Given the description of an element on the screen output the (x, y) to click on. 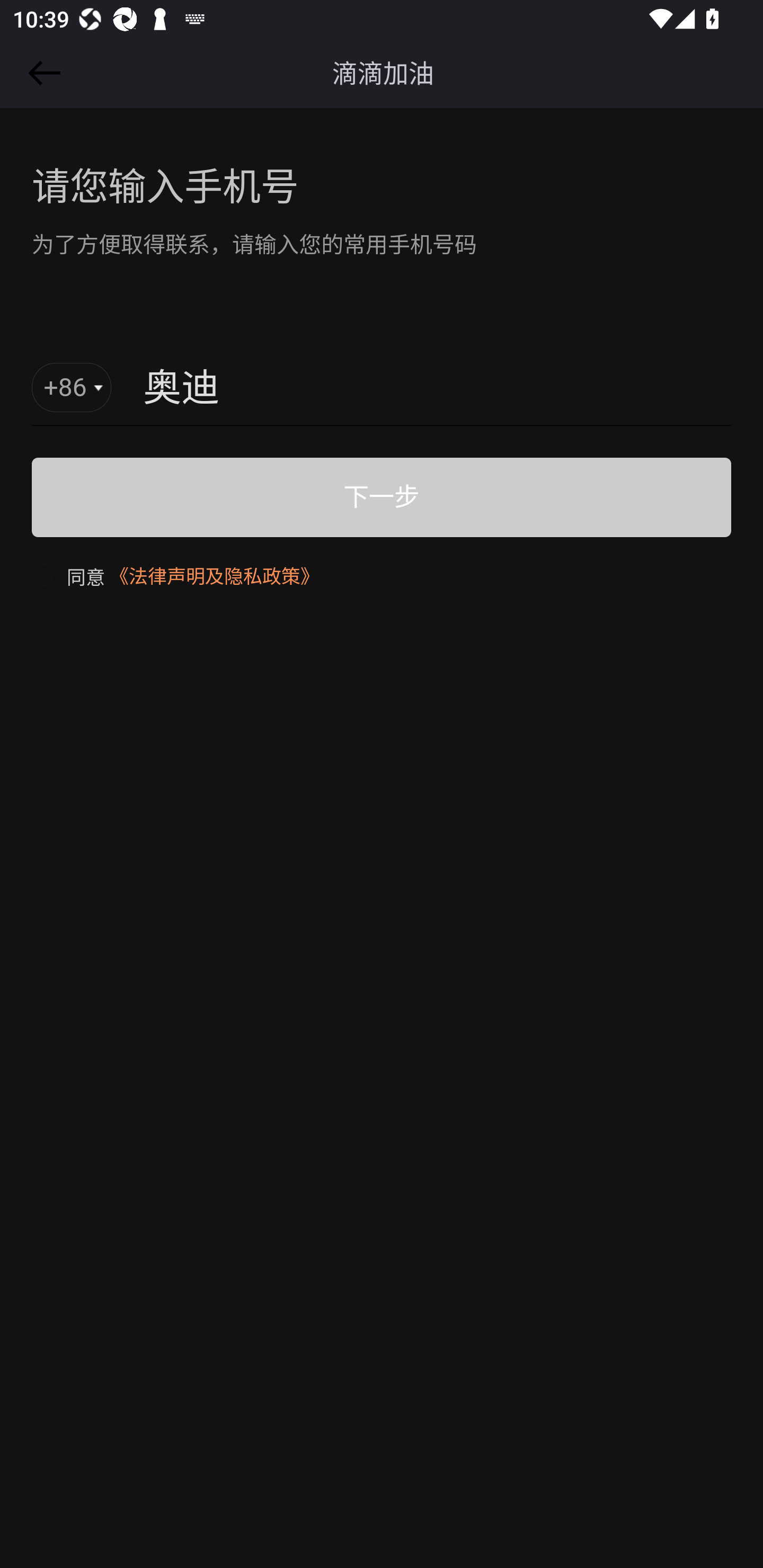
 (41, 72)
+86 (72, 387)
奥迪 (388, 388)
下一步 (381, 496)
同意 (68, 576)
《法律声明及隐私政策》 (213, 576)
